Given the description of an element on the screen output the (x, y) to click on. 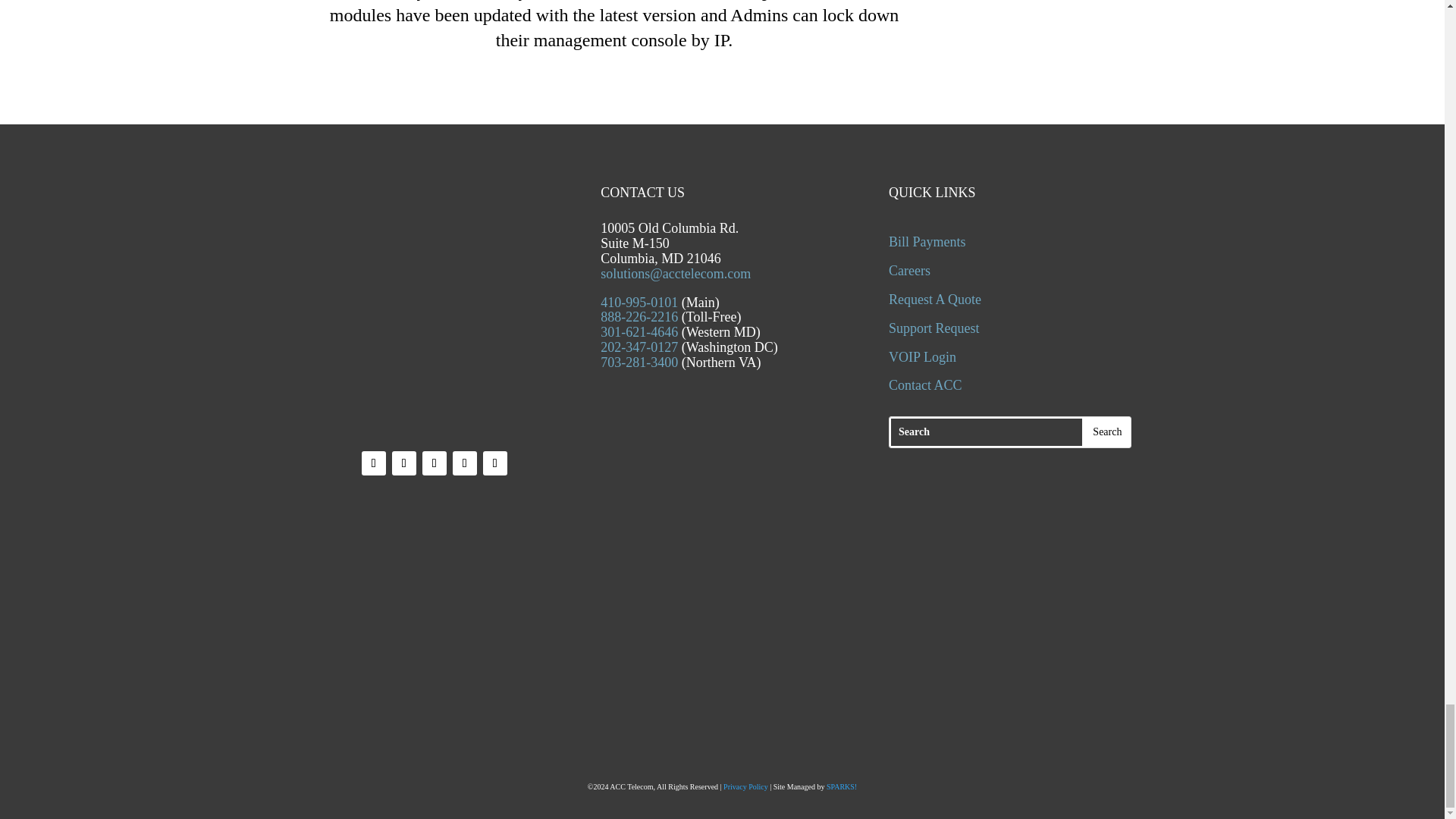
Follow on Facebook (373, 463)
Follow on LinkedIn (434, 463)
Search (1107, 431)
Follow on Youtube (464, 463)
Follow on X (403, 463)
Follow on RSS (494, 463)
Search (1107, 431)
